Given the description of an element on the screen output the (x, y) to click on. 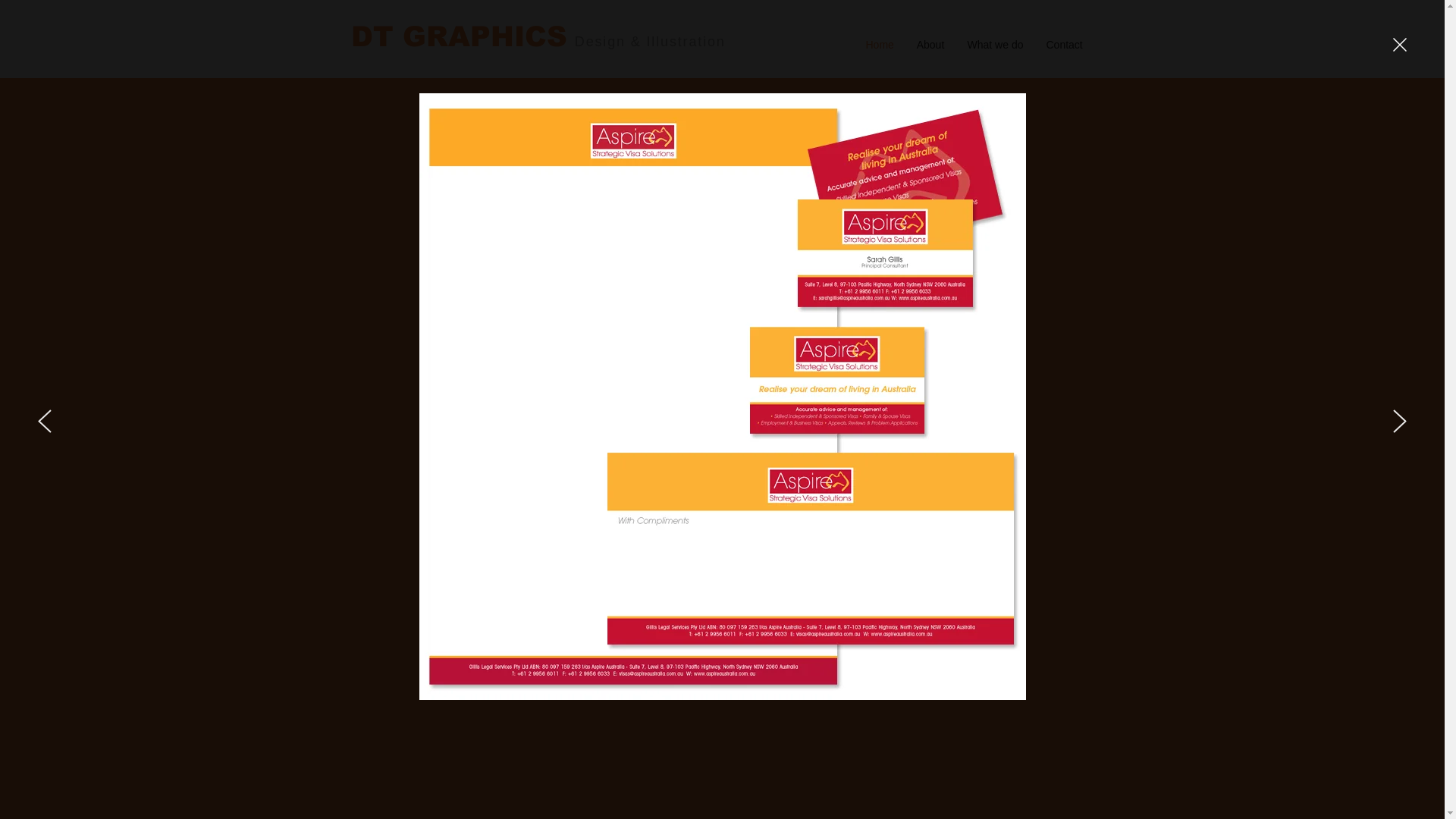
DT GRAPHICS Element type: text (458, 36)
Contact Element type: text (1063, 43)
Design & Illustration Element type: text (649, 40)
About Element type: text (930, 43)
Home Element type: text (878, 43)
